Given the description of an element on the screen output the (x, y) to click on. 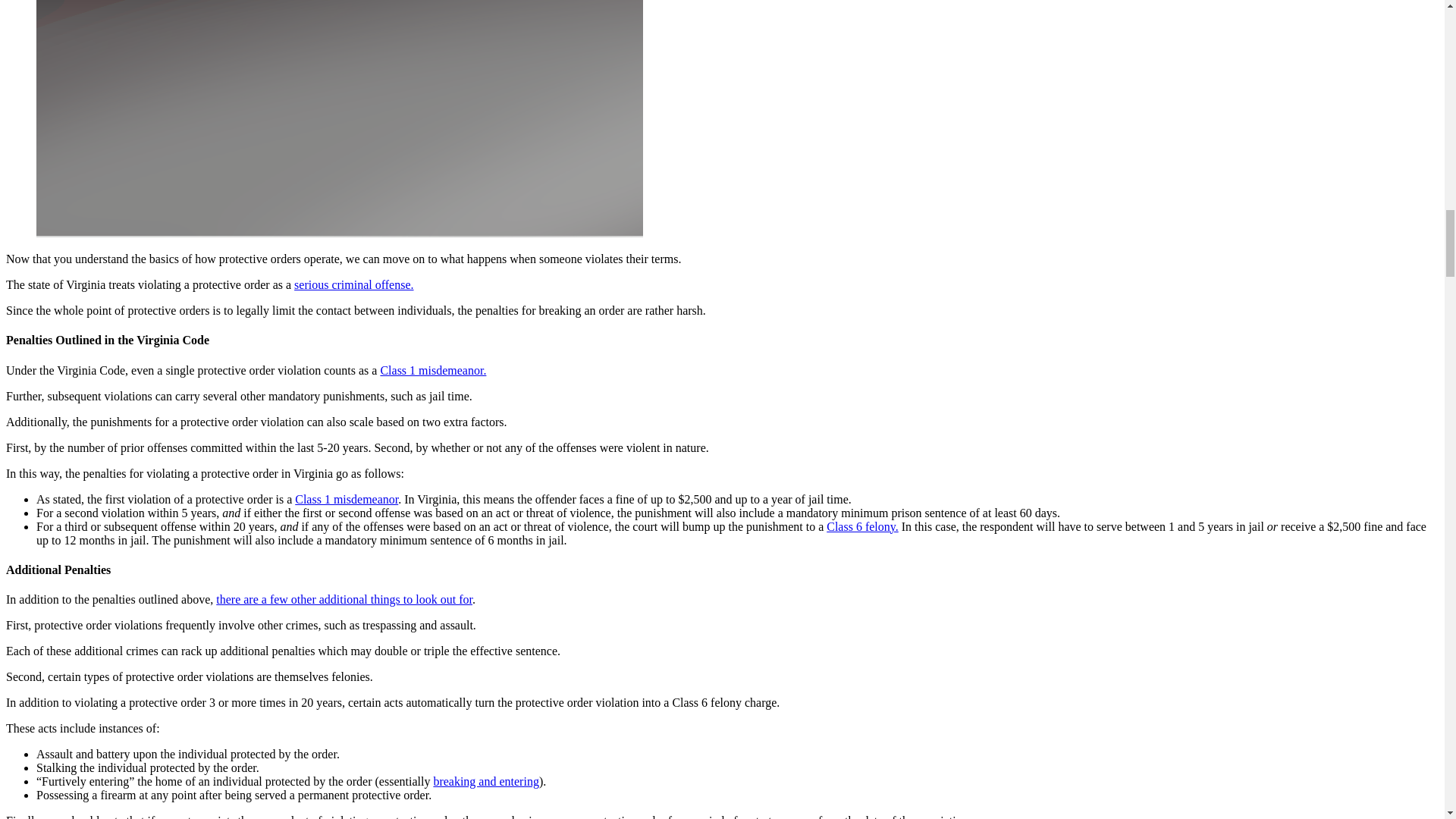
Class 6 felony. (862, 526)
breaking and entering (485, 780)
there are a few other additional things to look out for (343, 599)
Class 1 misdemeanor. (433, 369)
Class 1 misdemeanor (346, 499)
serious criminal offense. (353, 284)
